Given the description of an element on the screen output the (x, y) to click on. 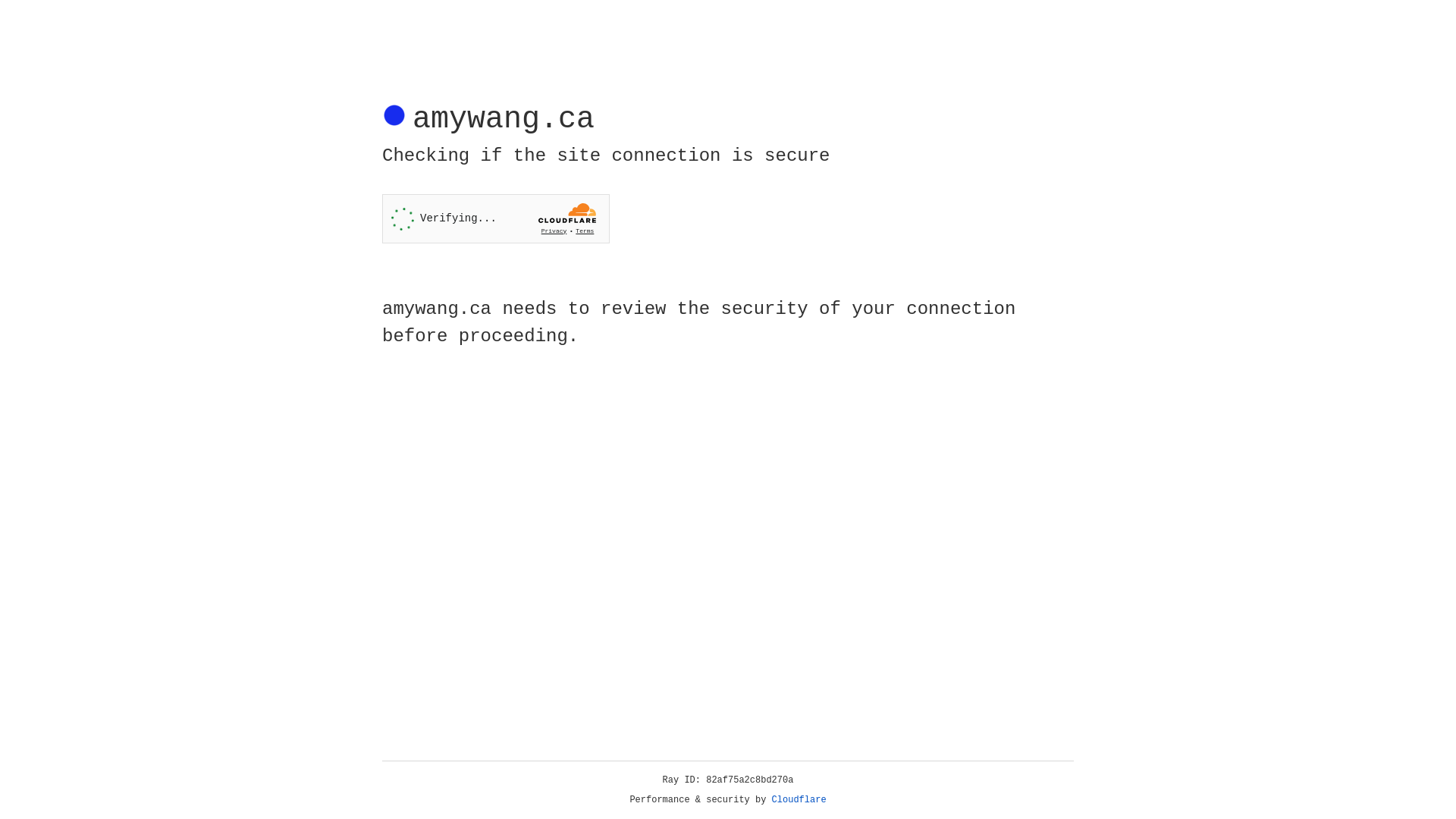
Cloudflare Element type: text (798, 799)
Widget containing a Cloudflare security challenge Element type: hover (495, 218)
